Given the description of an element on the screen output the (x, y) to click on. 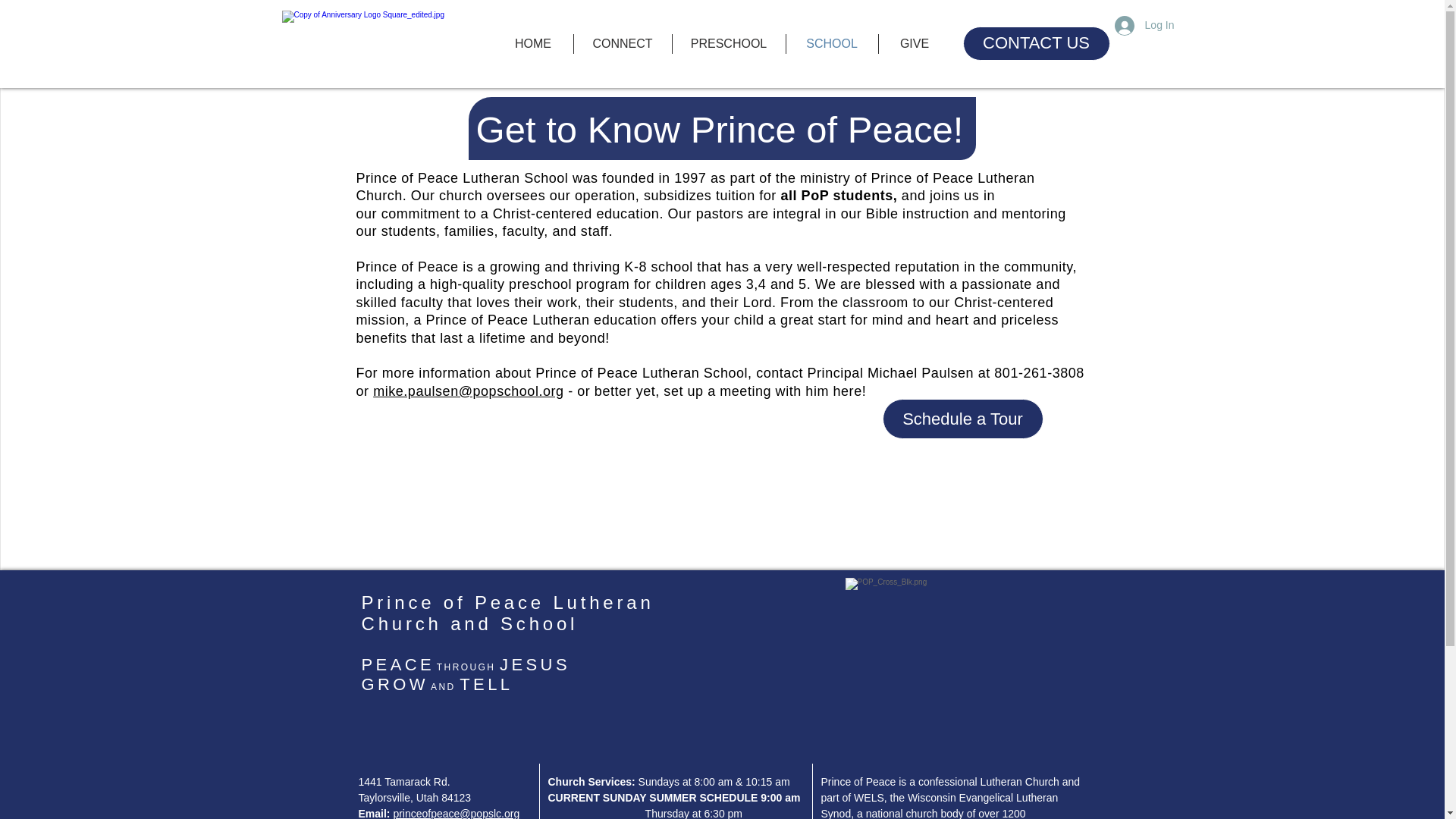
PRESCHOOL (727, 44)
CONTACT US (1035, 43)
Log In (1144, 25)
SCHOOL (831, 44)
tarp logo 2.jpg (385, 48)
GIVE (913, 44)
HOME (532, 44)
CONNECT (622, 44)
Schedule a Tour (962, 418)
